Given the description of an element on the screen output the (x, y) to click on. 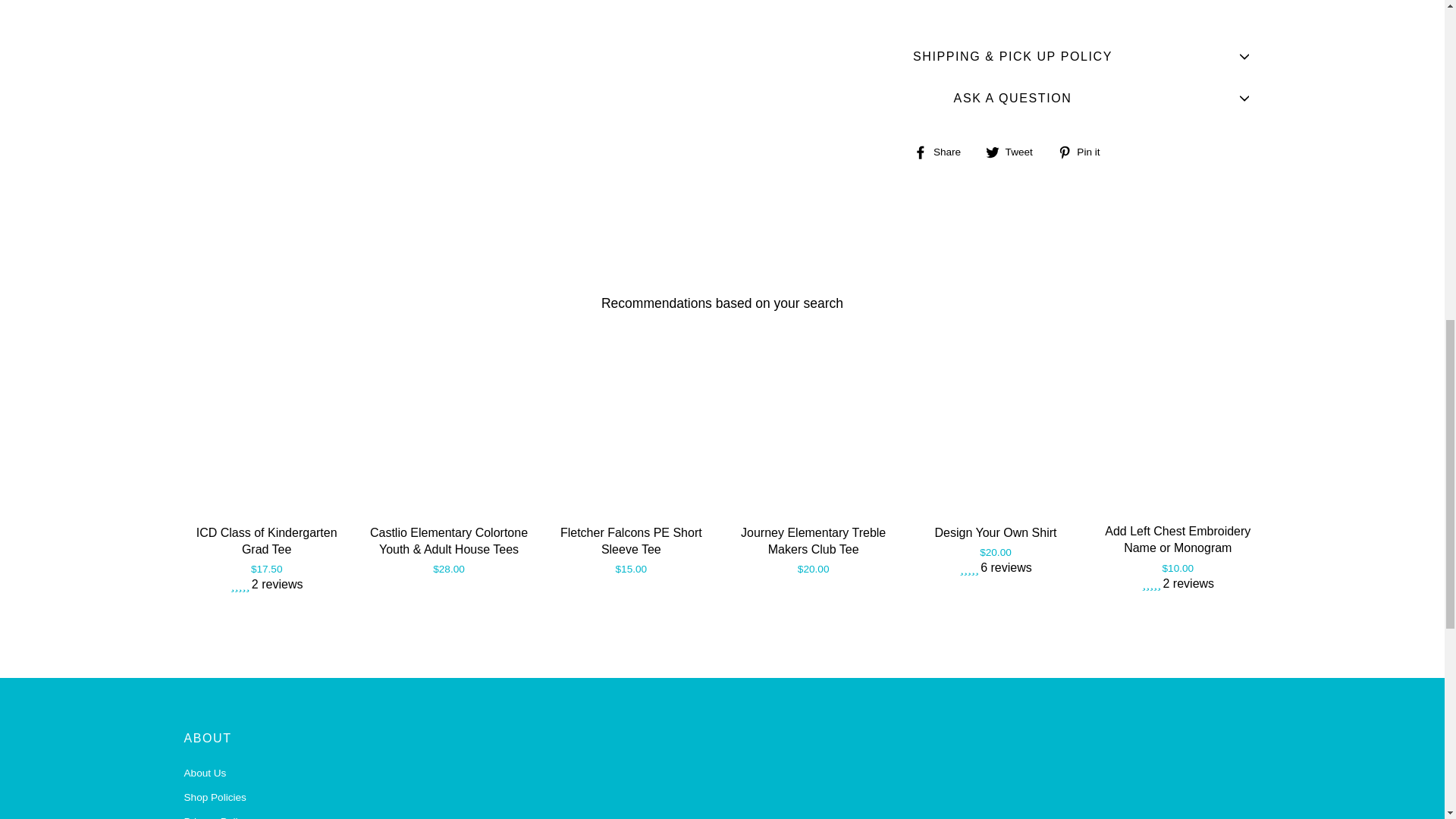
Pin on Pinterest (1085, 151)
Tweet on Twitter (1014, 151)
Share on Facebook (943, 151)
